Given the description of an element on the screen output the (x, y) to click on. 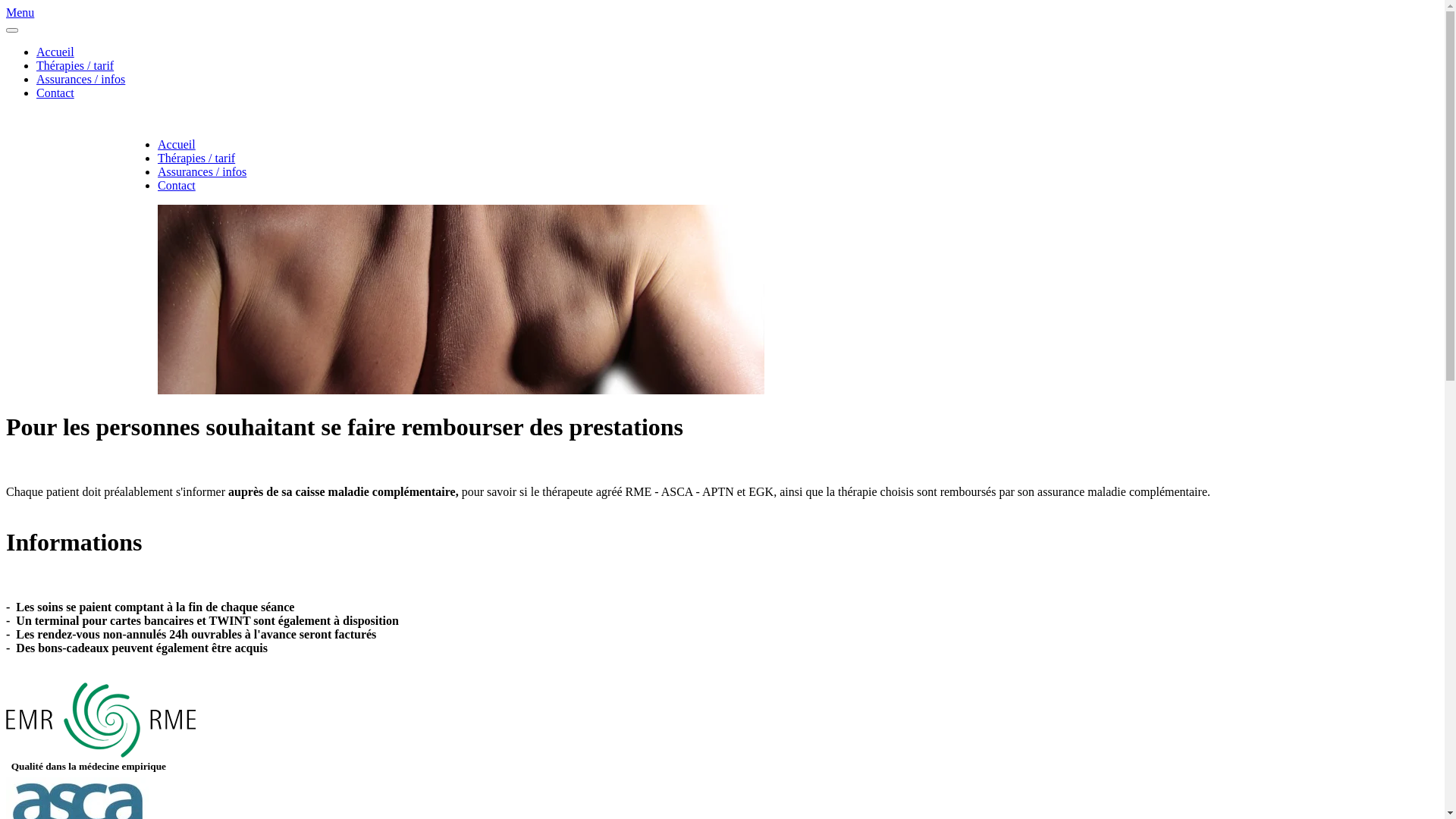
Skip to main content Element type: text (56, 12)
Assurances / infos Element type: text (201, 171)
Assurances / infos Element type: text (80, 78)
Contact Element type: text (176, 184)
Menu Element type: text (722, 12)
Accueil Element type: text (176, 144)
Accueil Element type: text (55, 51)
Contact Element type: text (55, 92)
